Given the description of an element on the screen output the (x, y) to click on. 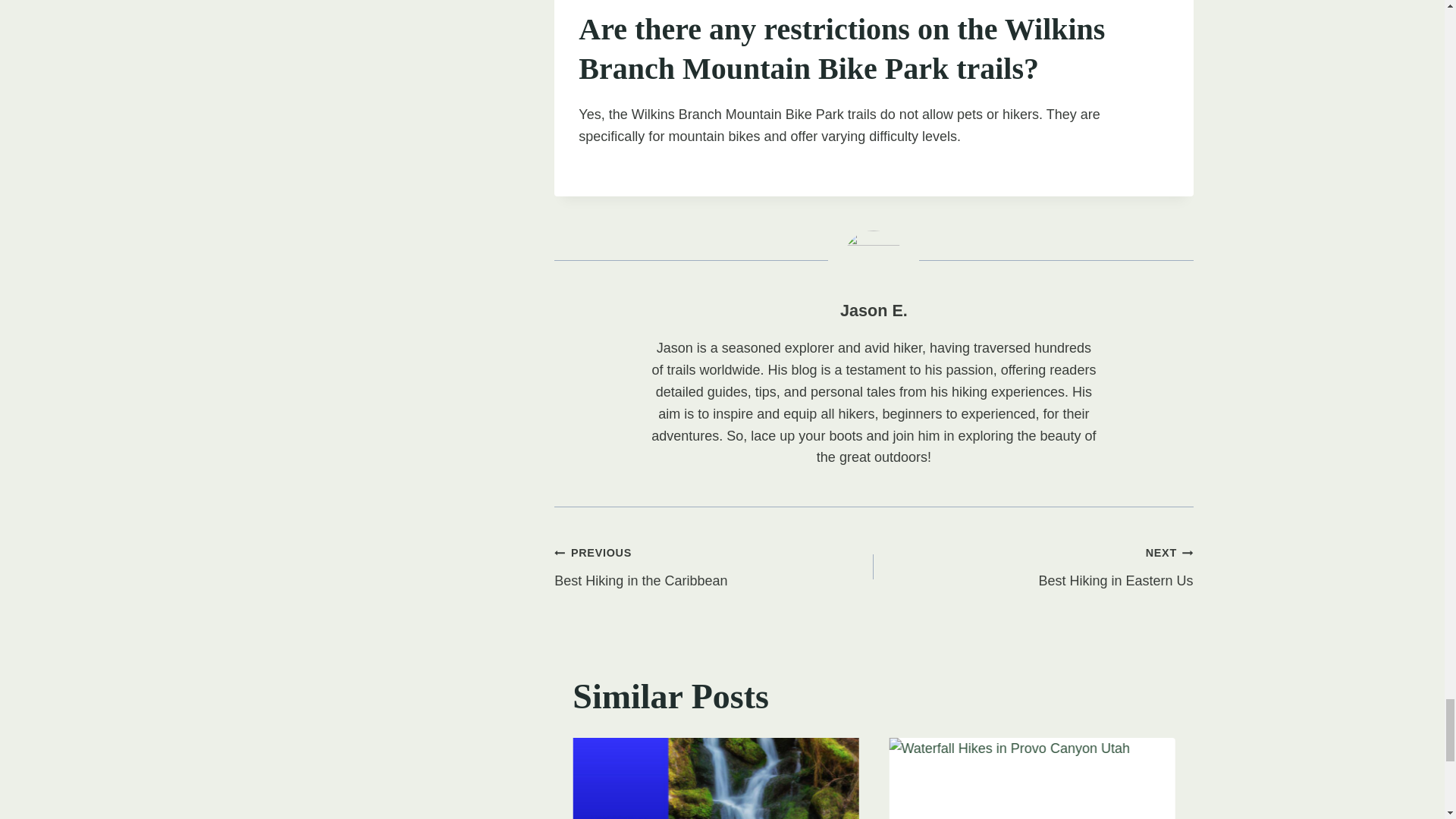
Posts by Jason E. (873, 310)
Jason E. (1032, 566)
Waterfall Hikes in Provo Canyon Utah 3 (713, 566)
Waterfall Hikes Near Gig Harbor 2 (873, 310)
